Given the description of an element on the screen output the (x, y) to click on. 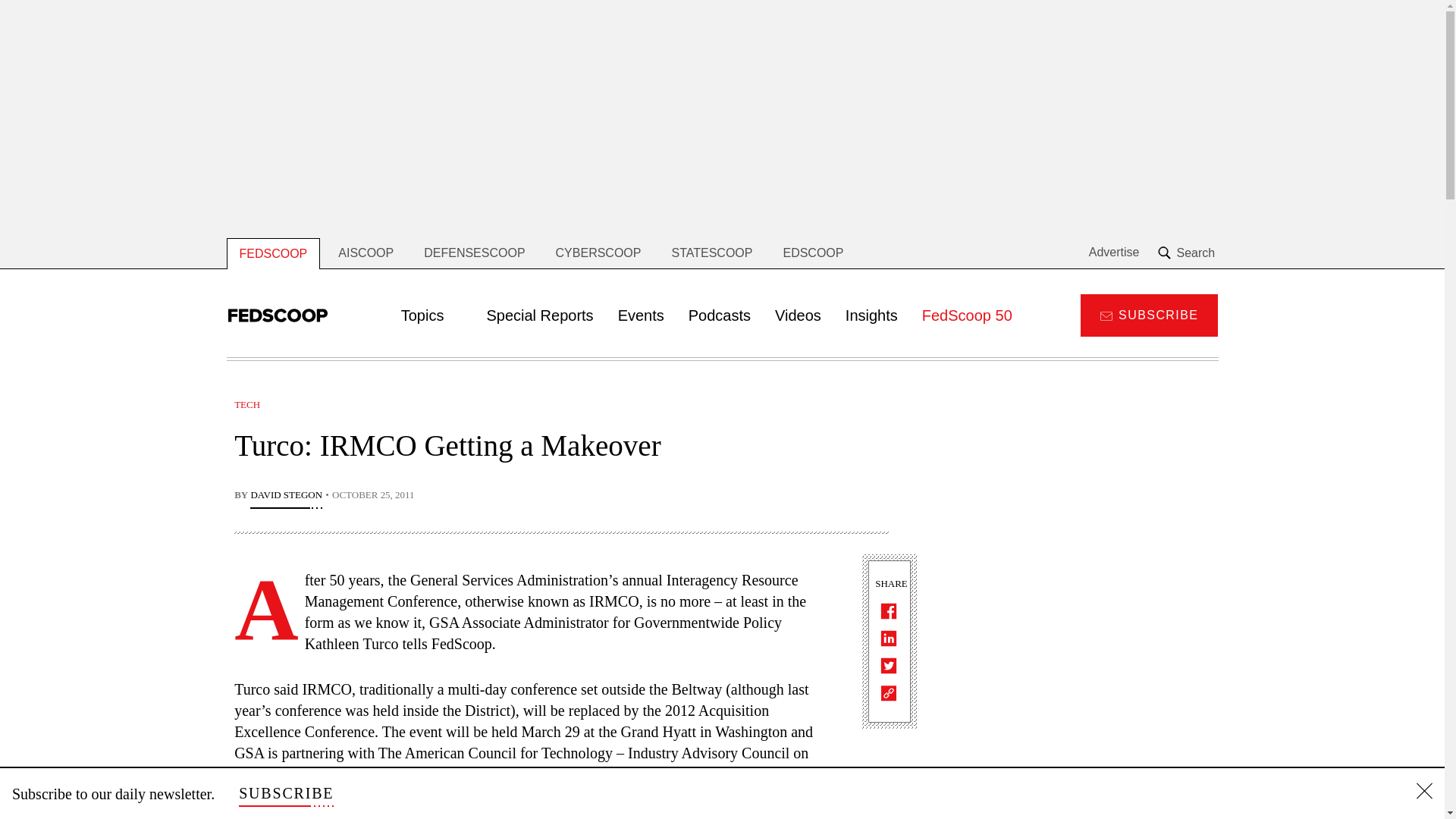
CLOSE (1424, 793)
Special Reports (539, 315)
FedScoop 50 (967, 315)
TECH (247, 404)
SUBSCRIBE (285, 793)
SUBSCRIBE (1148, 314)
Advertise (1114, 252)
David Stegon (285, 496)
EDSCOOP (813, 253)
STATESCOOP (711, 253)
Podcasts (719, 315)
DEFENSESCOOP (474, 253)
CYBERSCOOP (598, 253)
Videos (797, 315)
